Given the description of an element on the screen output the (x, y) to click on. 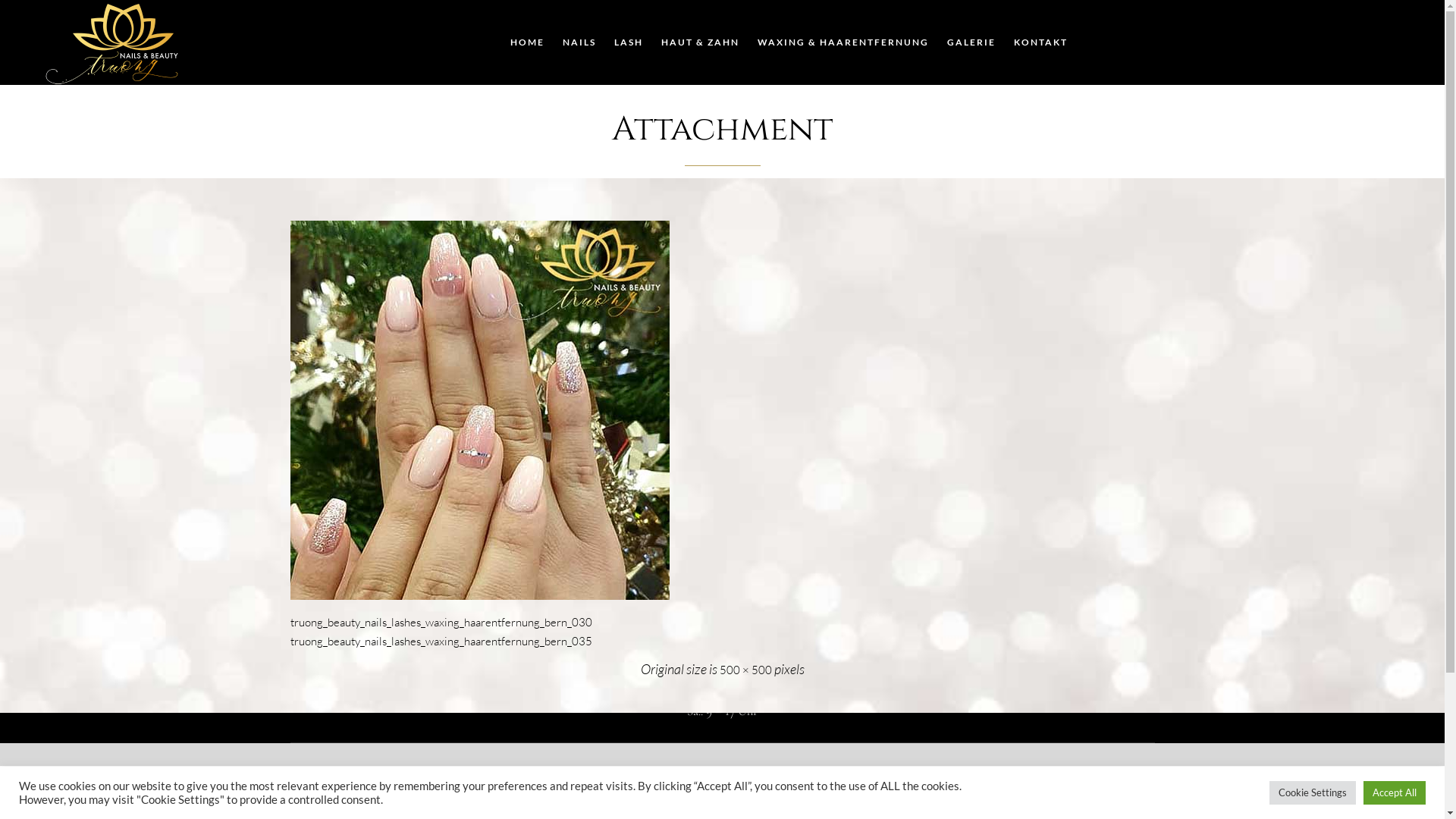
KONTAKT Element type: text (1040, 42)
HOME Element type: text (526, 42)
GALERIE Element type: text (970, 42)
WAXING & HAARENTFERNUNG Element type: text (842, 42)
truong_beauty_nails_lashes_waxing_haarentfernung_bern_033 Element type: hover (721, 409)
Skip to content Element type: text (1075, 18)
HAUT & ZAHN Element type: text (700, 42)
truong_beauty_nails_lashes_waxing_haarentfernung_bern_035 Element type: text (440, 640)
Cookie Settings Element type: text (1312, 792)
Impressum Element type: text (192, 791)
LASH Element type: text (628, 42)
truong_beauty_nails_lashes_waxing_haarentfernung_bern_030 Element type: text (440, 622)
Accept All Element type: text (1394, 792)
+41 76 393 39 79 Element type: text (732, 644)
NAILS Element type: text (579, 42)
